Given the description of an element on the screen output the (x, y) to click on. 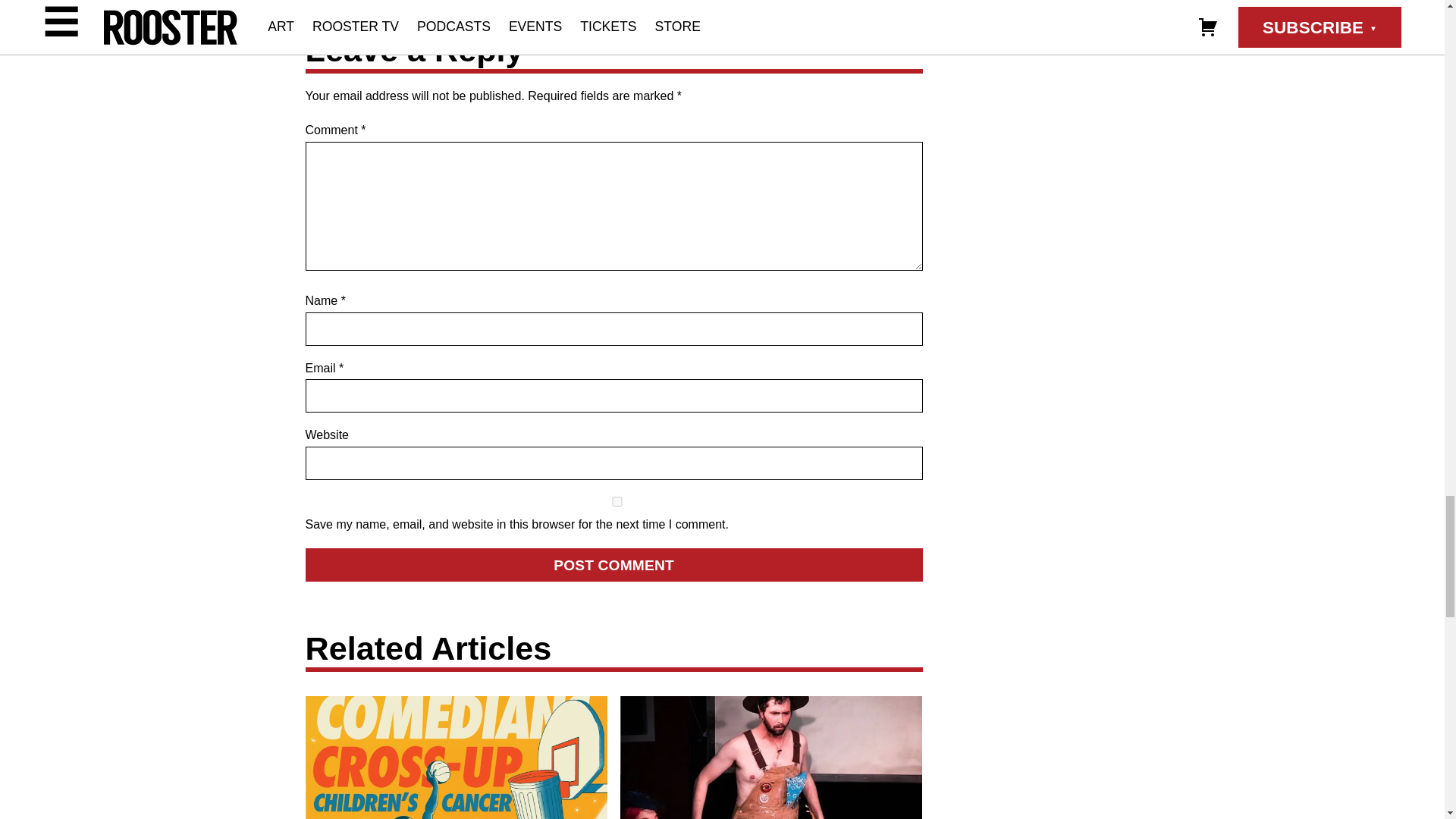
yes (615, 501)
Post Comment (612, 564)
